Given the description of an element on the screen output the (x, y) to click on. 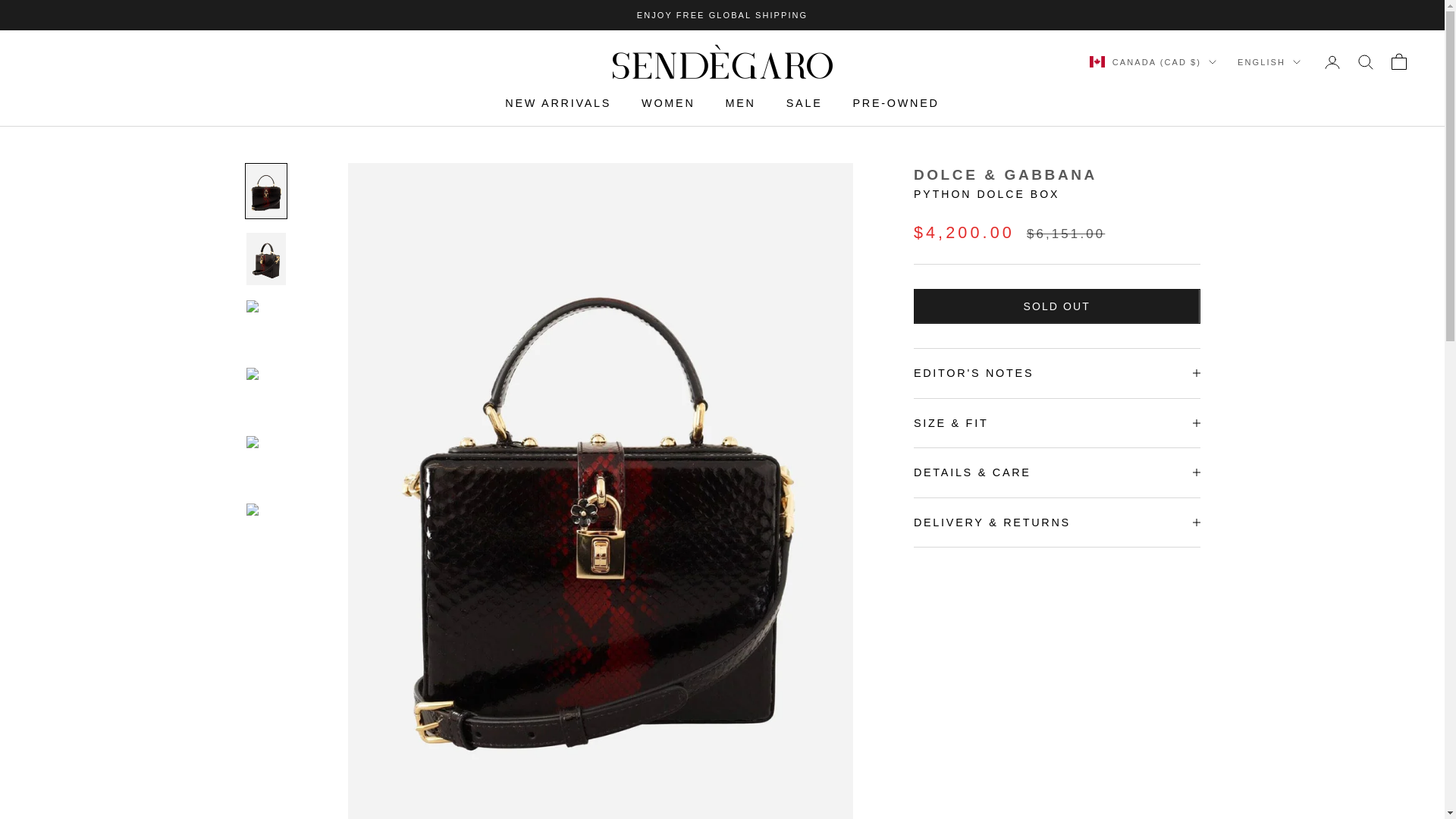
Sendegaro (722, 61)
